Given the description of an element on the screen output the (x, y) to click on. 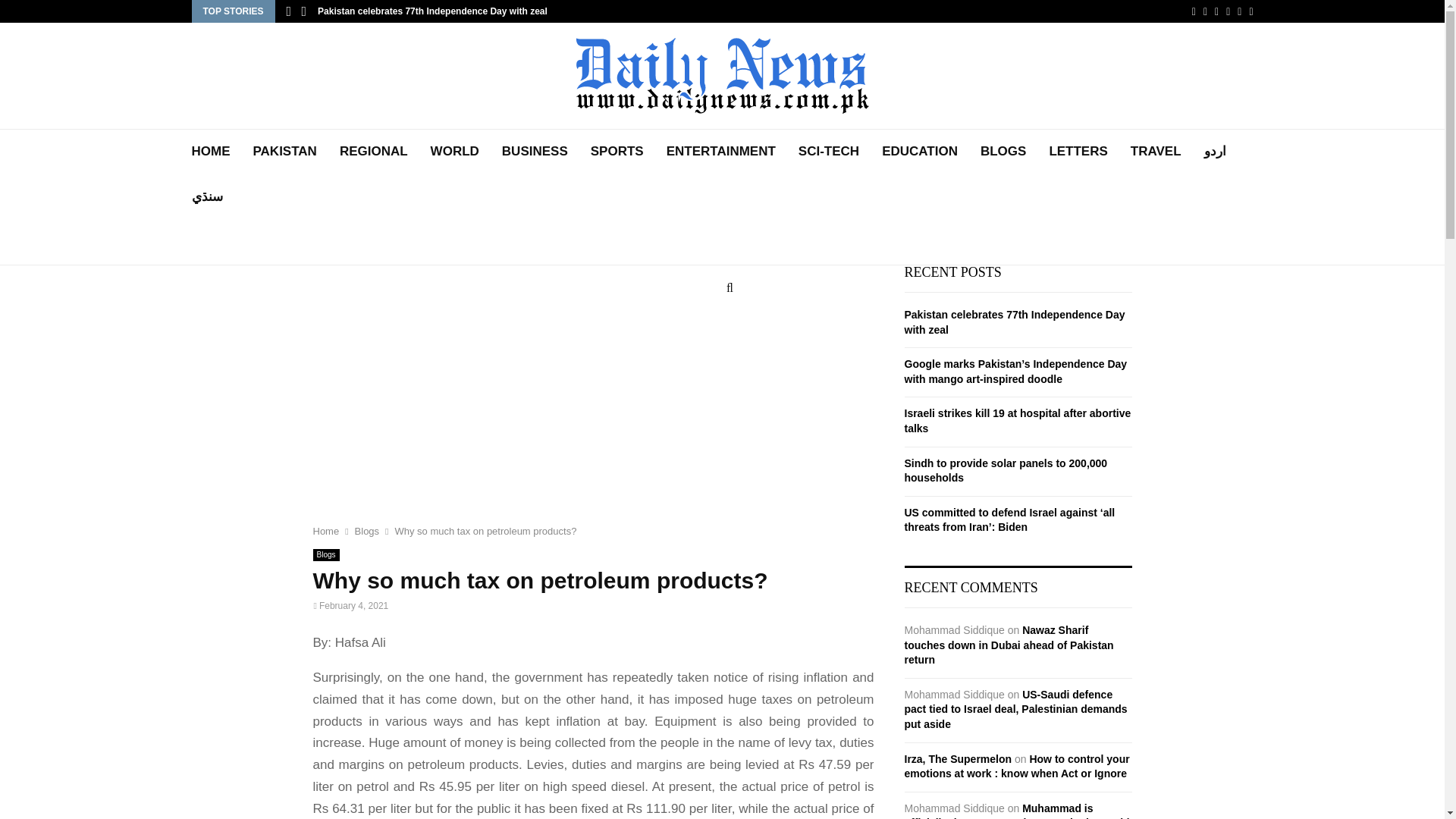
WORLD (454, 151)
ENTERTAINMENT (721, 151)
SPORTS (617, 151)
LETTERS (1077, 151)
BUSINESS (534, 151)
SCI-TECH (828, 151)
BLOGS (1002, 151)
REGIONAL (373, 151)
Pakistan celebrates 77th Independence Day with zeal (432, 10)
EDUCATION (920, 151)
